Given the description of an element on the screen output the (x, y) to click on. 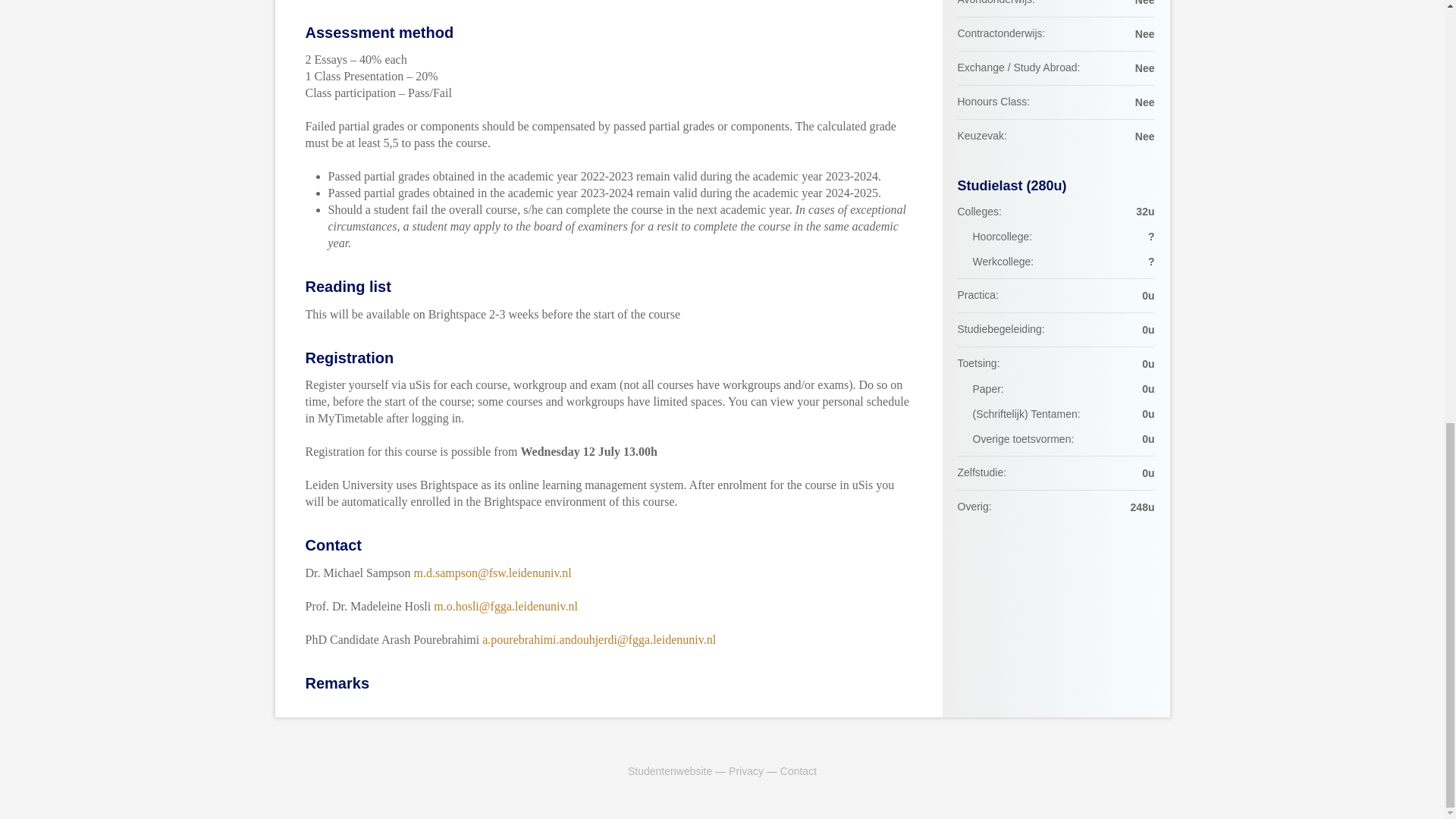
Privacy (745, 770)
Studentenwebsite (669, 770)
Contact (798, 770)
